Given the description of an element on the screen output the (x, y) to click on. 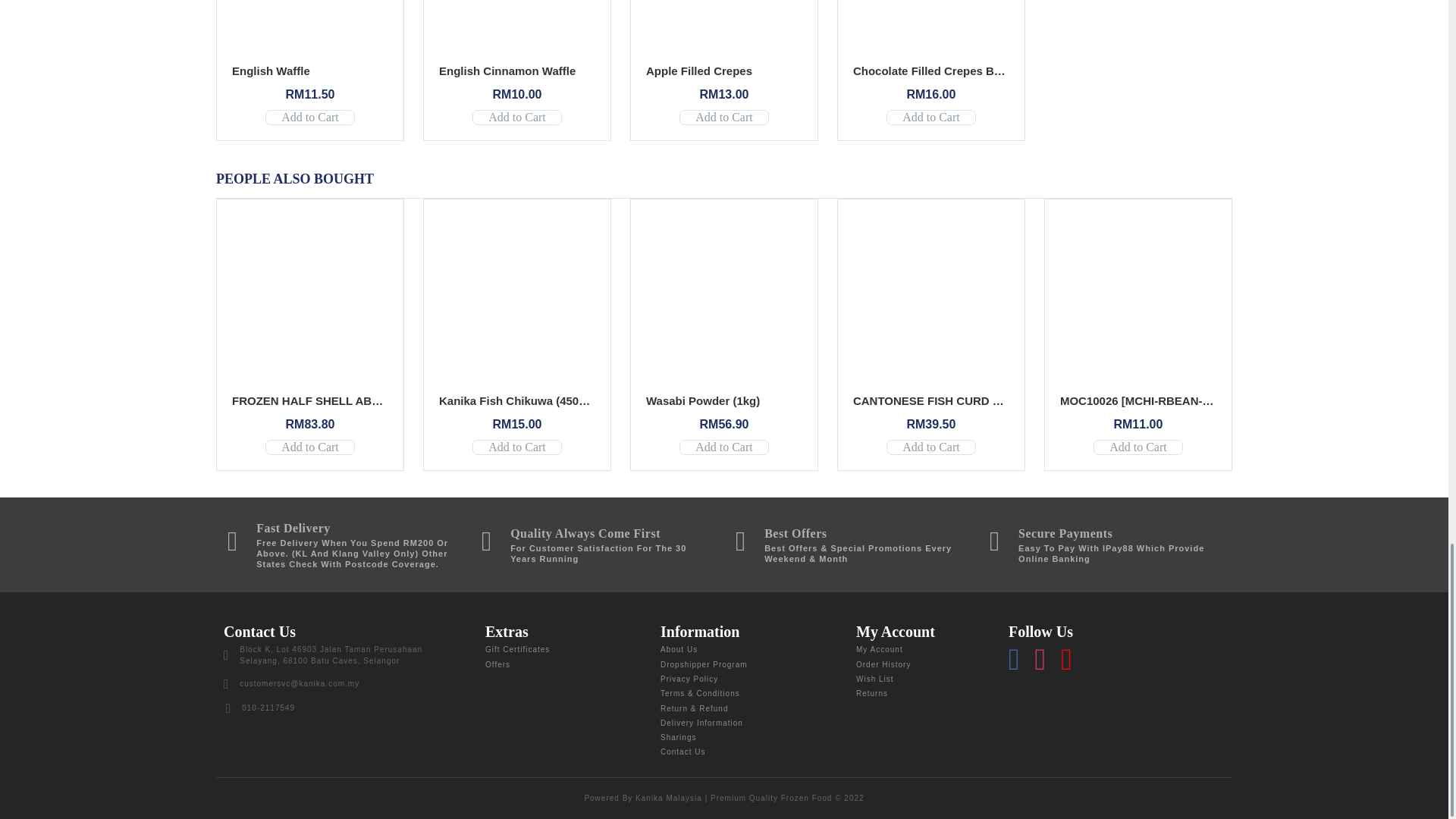
Add to Cart (309, 117)
Add to Cart (516, 117)
English Waffle (270, 70)
English Cinnamon Waffle (507, 70)
